Given the description of an element on the screen output the (x, y) to click on. 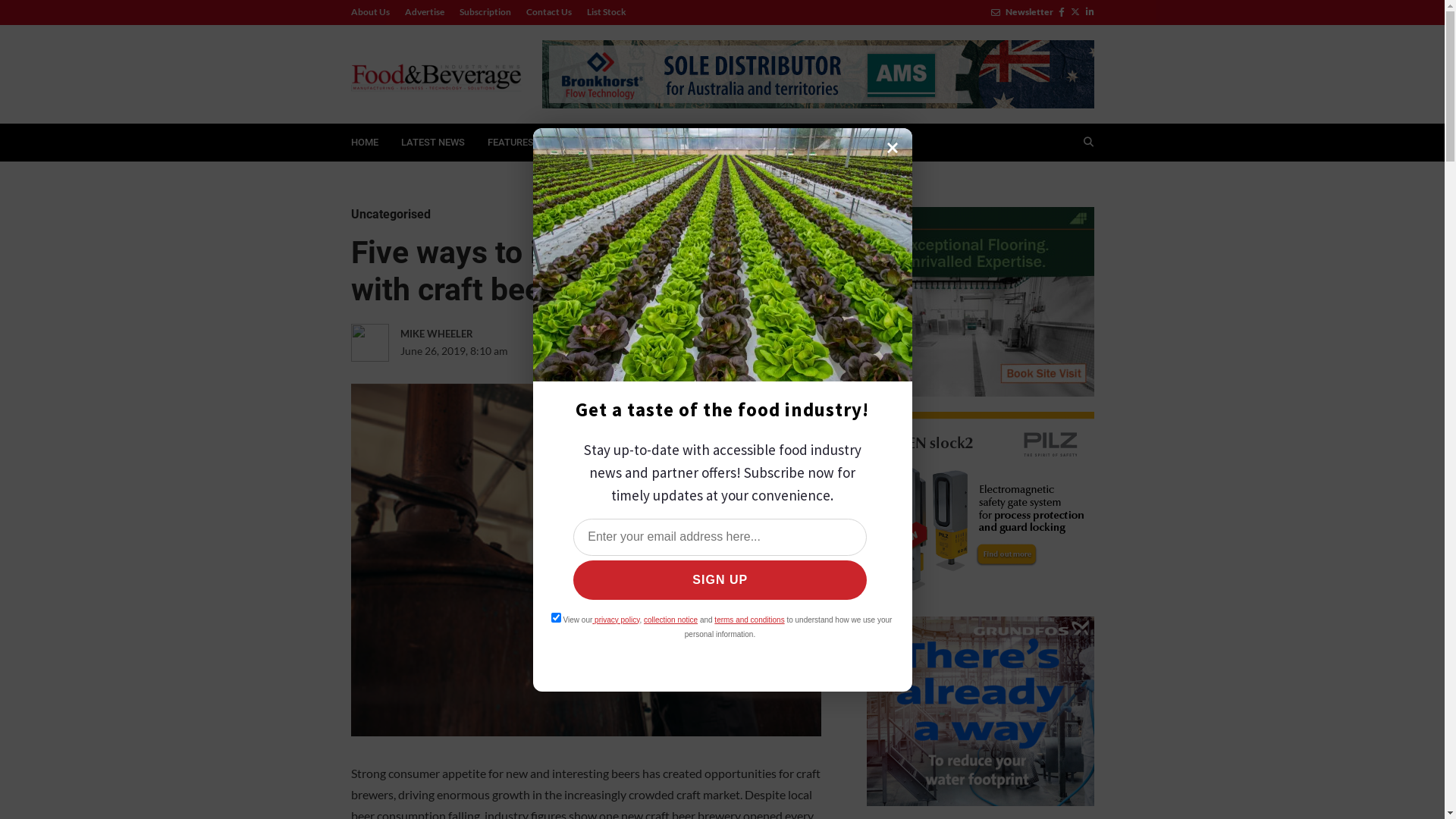
FOOD AND BEVERAGE AWARDS Element type: text (732, 142)
Share on Facebook Element type: hover (604, 350)
List Stock Element type: text (602, 11)
3rd party ad content Element type: hover (979, 301)
MARKETPLACE Element type: text (859, 142)
Share on Copy Link Element type: hover (759, 350)
RESOURCES Element type: text (604, 142)
Subscription Element type: text (484, 11)
MIKE WHEELER Element type: text (465, 333)
Newsletter Element type: text (1021, 11)
About Us Element type: text (373, 11)
Advertise Element type: text (424, 11)
Share on Print Element type: hover (697, 350)
Contact Us Element type: text (548, 11)
FEATURES Element type: text (517, 142)
Share on Twitter Element type: hover (635, 350)
Close Element type: hover (892, 147)
3rd party ad content Element type: hover (817, 74)
3rd party ad content Element type: hover (979, 711)
3rd party ad content Element type: hover (979, 506)
Share on Email Element type: hover (728, 350)
Share on LinkedIn Element type: hover (666, 350)
LATEST NEWS Element type: text (432, 142)
HOME Element type: text (364, 142)
